Given the description of an element on the screen output the (x, y) to click on. 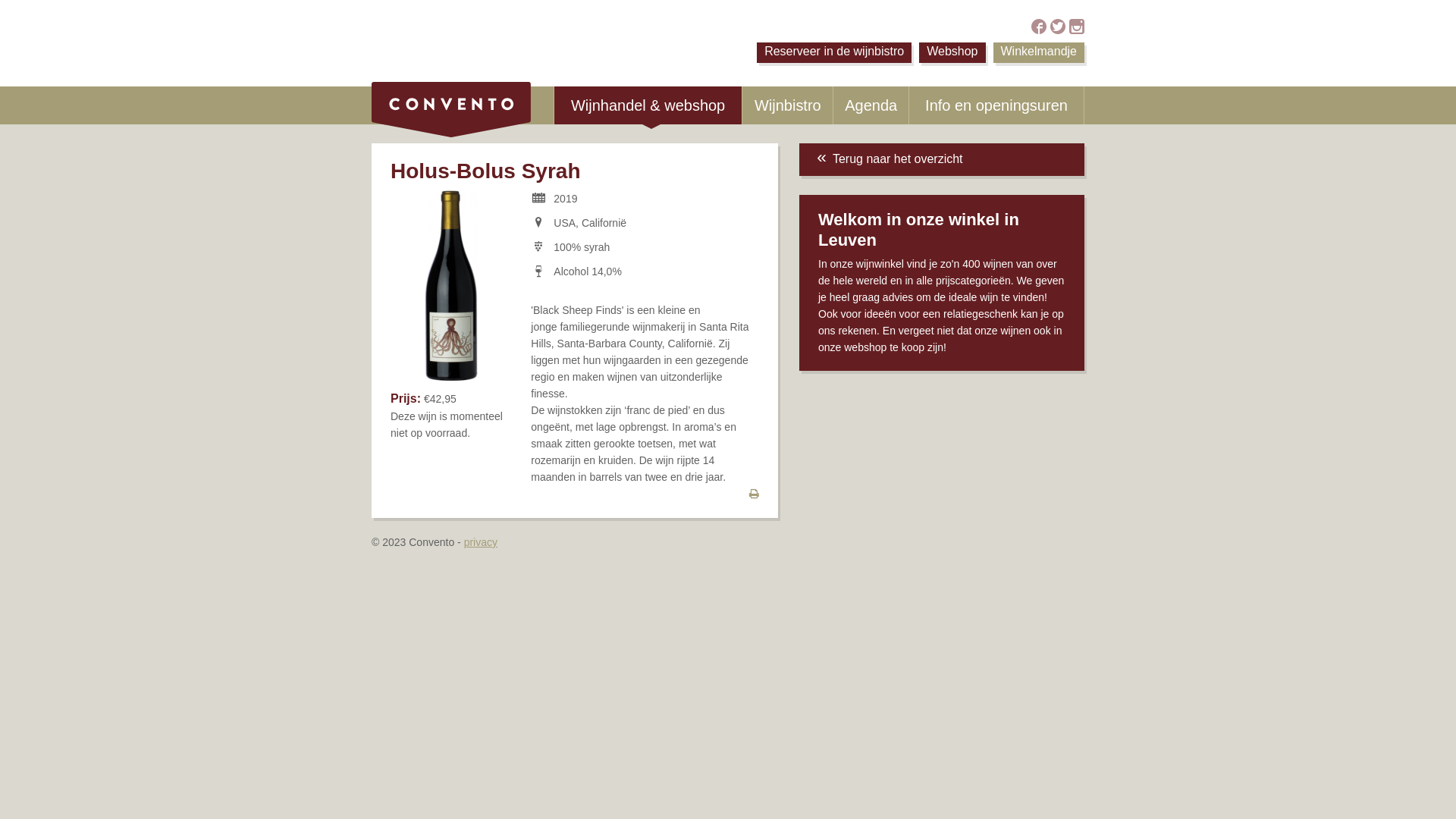
Convento wines Element type: hover (450, 111)
Wijnbistro Element type: text (787, 105)
Info en openingsuren Element type: text (996, 105)
Wijnhandel & webshop Element type: text (647, 105)
Terug naar het overzicht Element type: text (941, 159)
Instragram Element type: text (1076, 26)
privacy Element type: text (480, 542)
Winkelmandje Element type: text (1038, 52)
Twitter Element type: text (1057, 26)
Agenda Element type: text (870, 105)
Webshop Element type: text (952, 52)
Reserveer in de wijnbistro Element type: text (833, 52)
Facebook Element type: text (1038, 26)
